Given the description of an element on the screen output the (x, y) to click on. 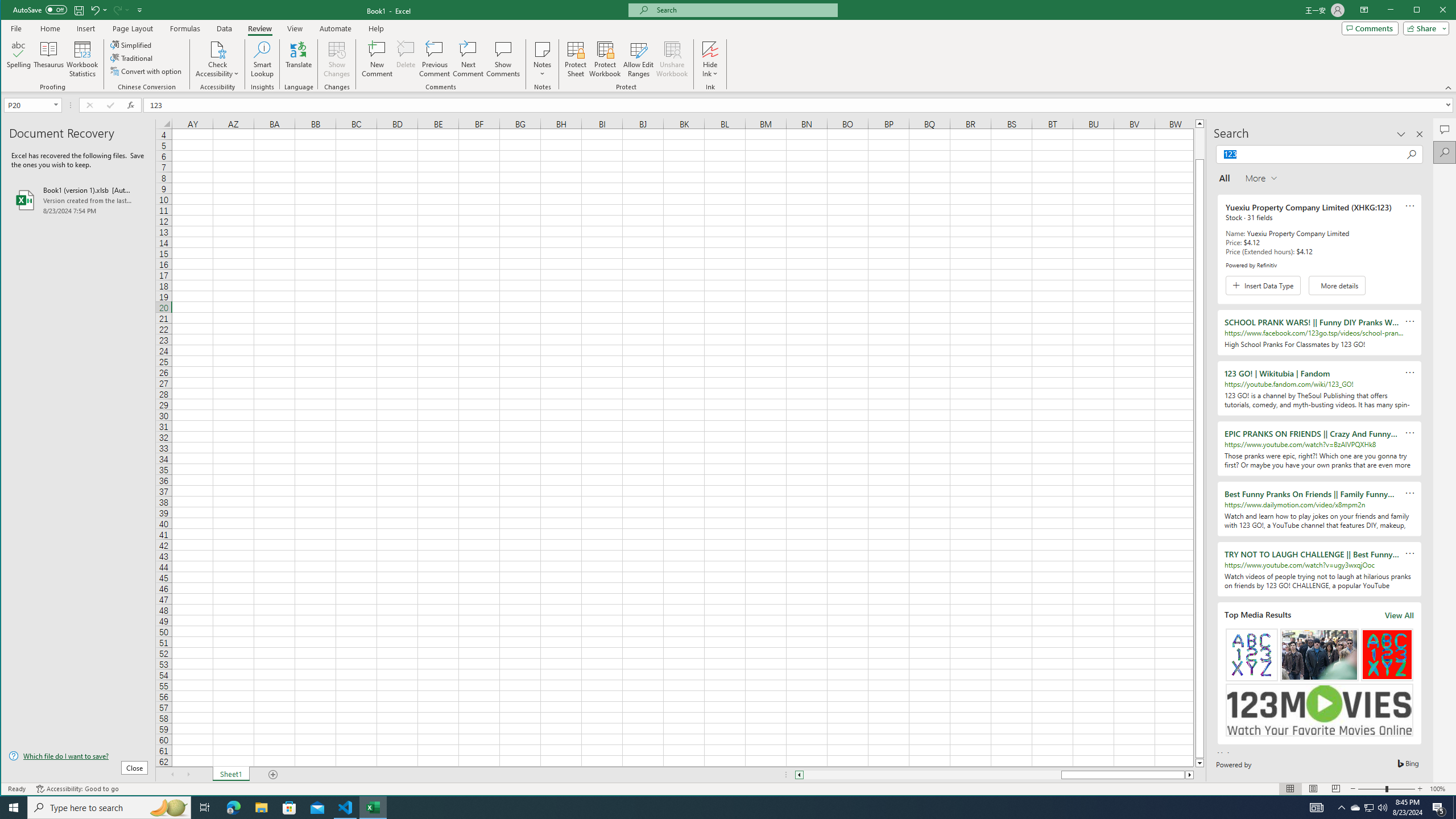
Name Box (32, 105)
Open (56, 105)
Page left (932, 774)
Scroll Right (188, 774)
System (11, 10)
Home (50, 28)
Show Comments (502, 59)
New Comment (377, 59)
Thesaurus... (48, 59)
Redo (116, 9)
Undo (98, 9)
Maximize (1432, 11)
Start (13, 807)
Running applications (717, 807)
Page up (1199, 142)
